Given the description of an element on the screen output the (x, y) to click on. 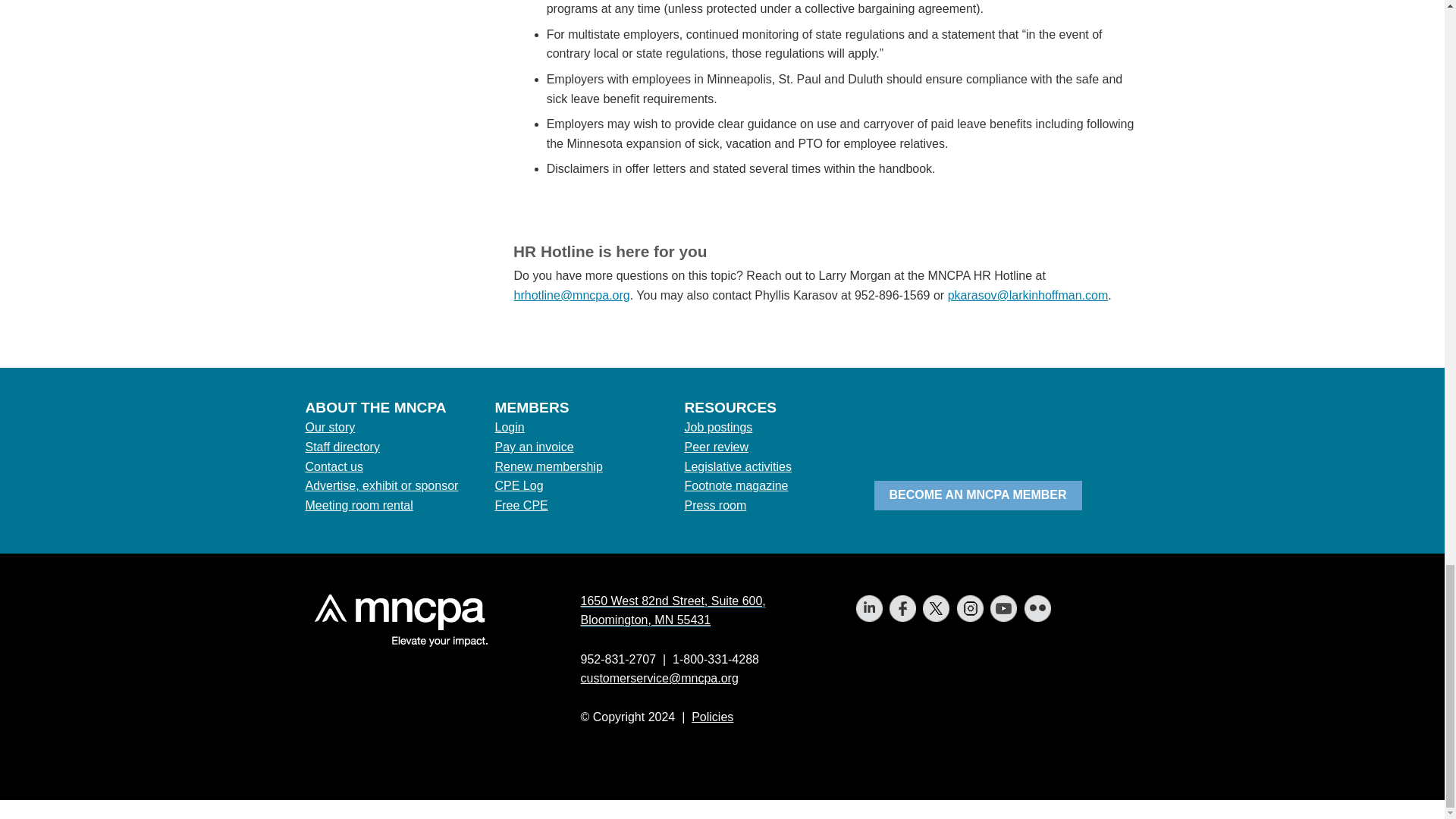
MNCPA logo (395, 620)
